Given the description of an element on the screen output the (x, y) to click on. 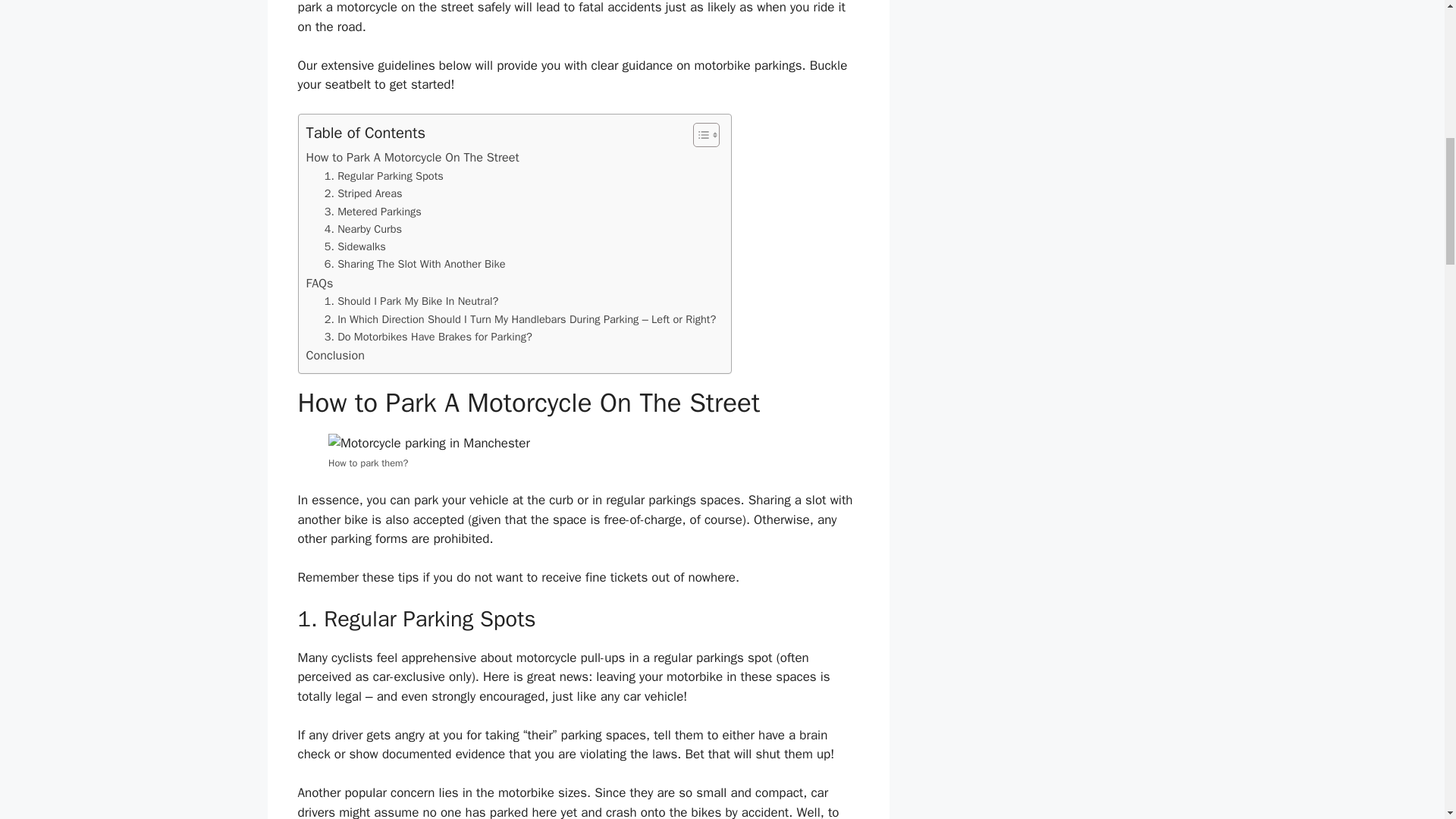
3. Do Motorbikes Have Brakes for Parking? (428, 336)
4. Nearby Curbs (362, 229)
How to Park A Motorcycle On The Street (412, 157)
2. Striped Areas (363, 193)
How to Park A Motorcycle On The Street (412, 157)
FAQs (319, 283)
Conclusion (335, 355)
5. Sidewalks (354, 246)
1. Should I Park My Bike In Neutral? (411, 301)
1. Should I Park My Bike In Neutral? (411, 301)
3. Metered Parkings (373, 211)
Conclusion (335, 355)
5. Sidewalks (354, 246)
2. Striped Areas (363, 193)
6. Sharing The Slot With Another Bike (414, 263)
